Given the description of an element on the screen output the (x, y) to click on. 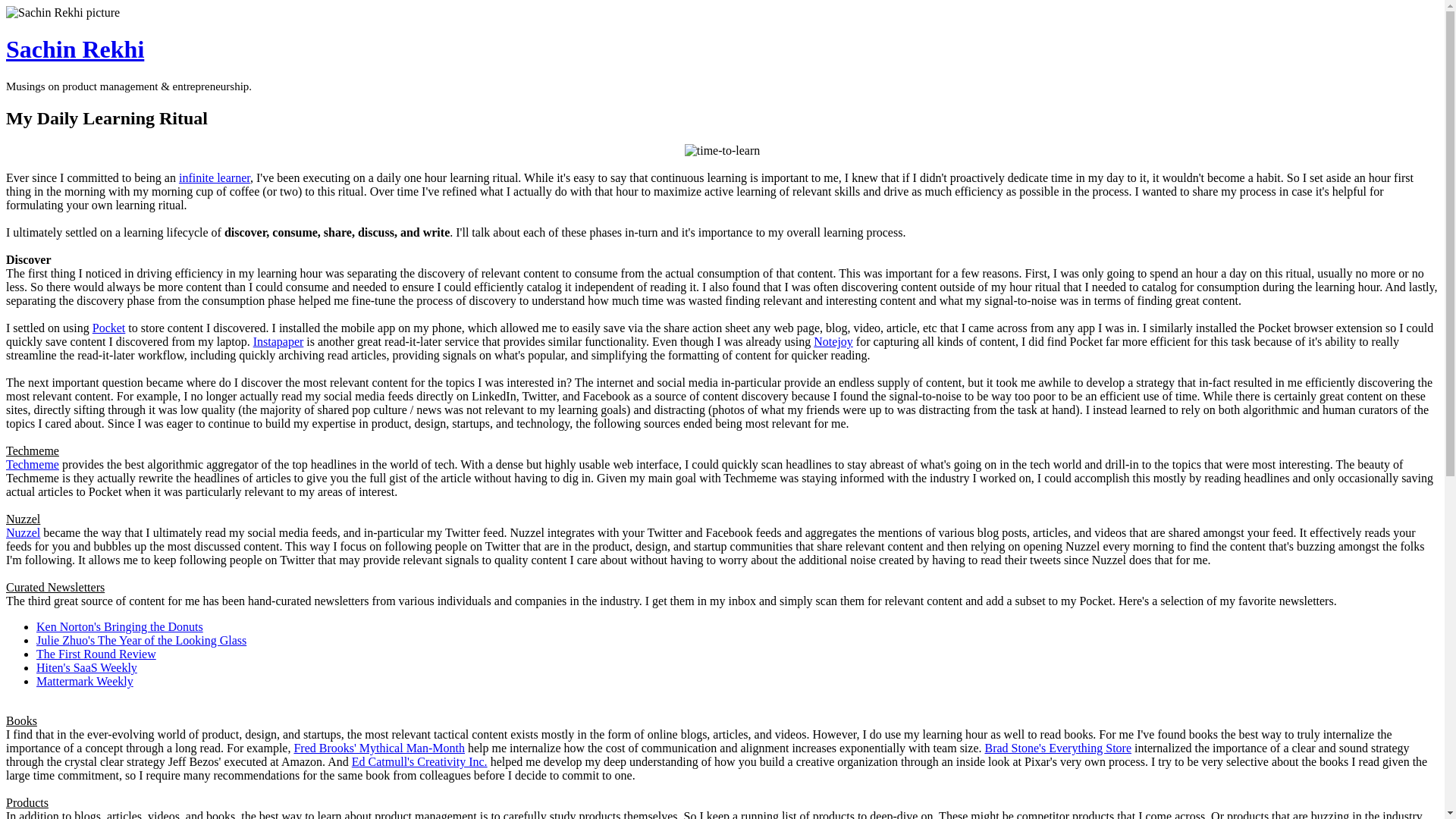
Ken Norton's Bringing the Donuts (119, 626)
Pocket (109, 327)
Brad Stone's Everything Store (1058, 748)
Instapaper (278, 341)
The First Round Review (95, 653)
infinite learner (214, 177)
Fred Brooks' Mythical Man-Month (379, 748)
Ed Catmull's Creativity Inc. (419, 761)
Techmeme (32, 463)
Mattermark Weekly (84, 680)
Hiten's SaaS Weekly (86, 667)
Nuzzel (22, 532)
Notejoy (833, 341)
Julie Zhuo's The Year of the Looking Glass (141, 640)
Sachin Rekhi (74, 49)
